Given the description of an element on the screen output the (x, y) to click on. 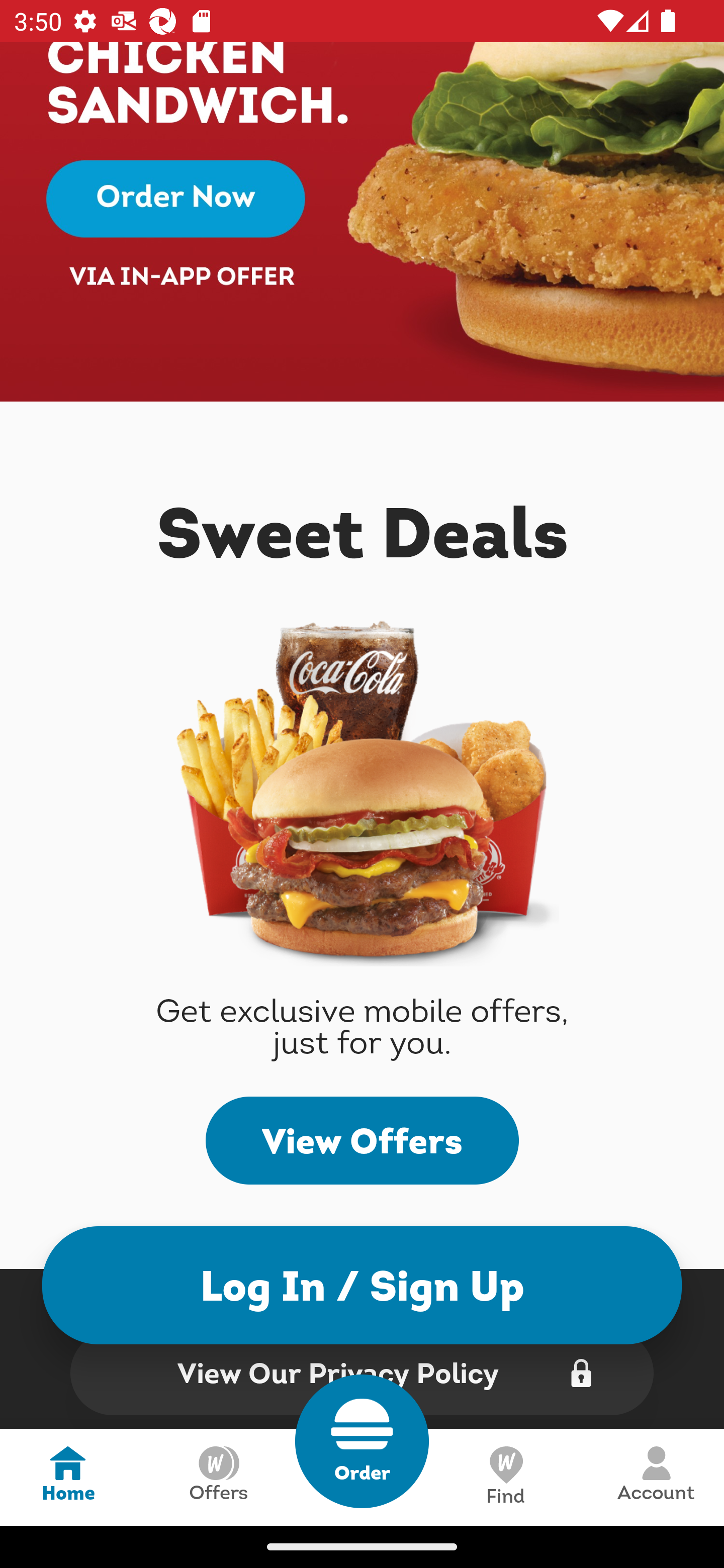
crispy (362, 221)
View Offers (362, 1139)
Log In / Sign Up (361, 1284)
Order,3 of 5 Order (361, 1441)
Home,1 of 5 Home (68, 1476)
Rewards,2 of 5 Offers Offers (218, 1476)
Scan,4 of 5 Find Find (505, 1476)
Account,5 of 5 Account (655, 1476)
